Given the description of an element on the screen output the (x, y) to click on. 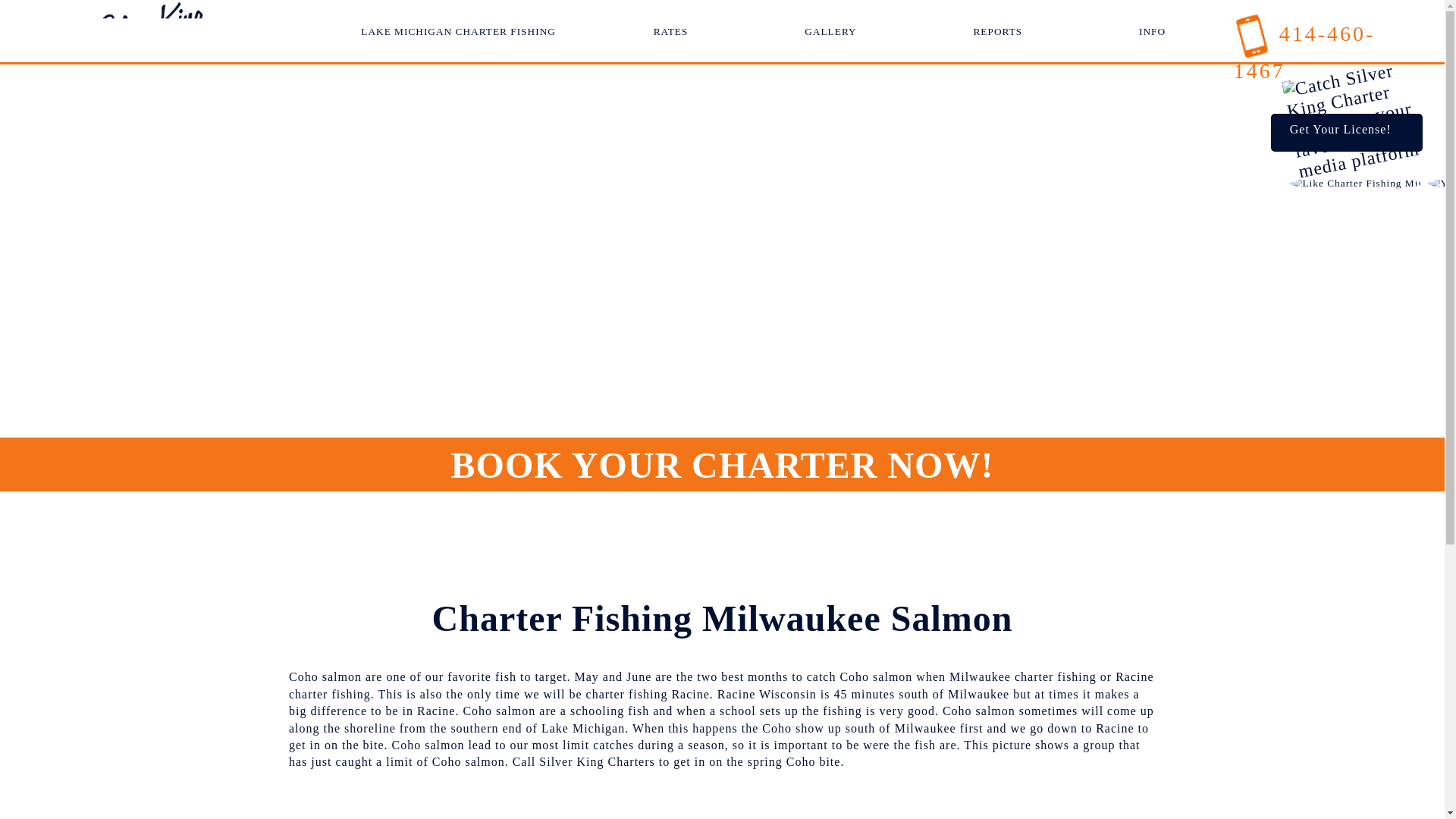
REPORTS (997, 30)
414-460-1467 (1304, 52)
RATES (670, 30)
Get Your License! (1346, 132)
GALLERY (830, 30)
LAKE MICHIGAN CHARTER FISHING (458, 30)
INFO (1152, 30)
